Given the description of an element on the screen output the (x, y) to click on. 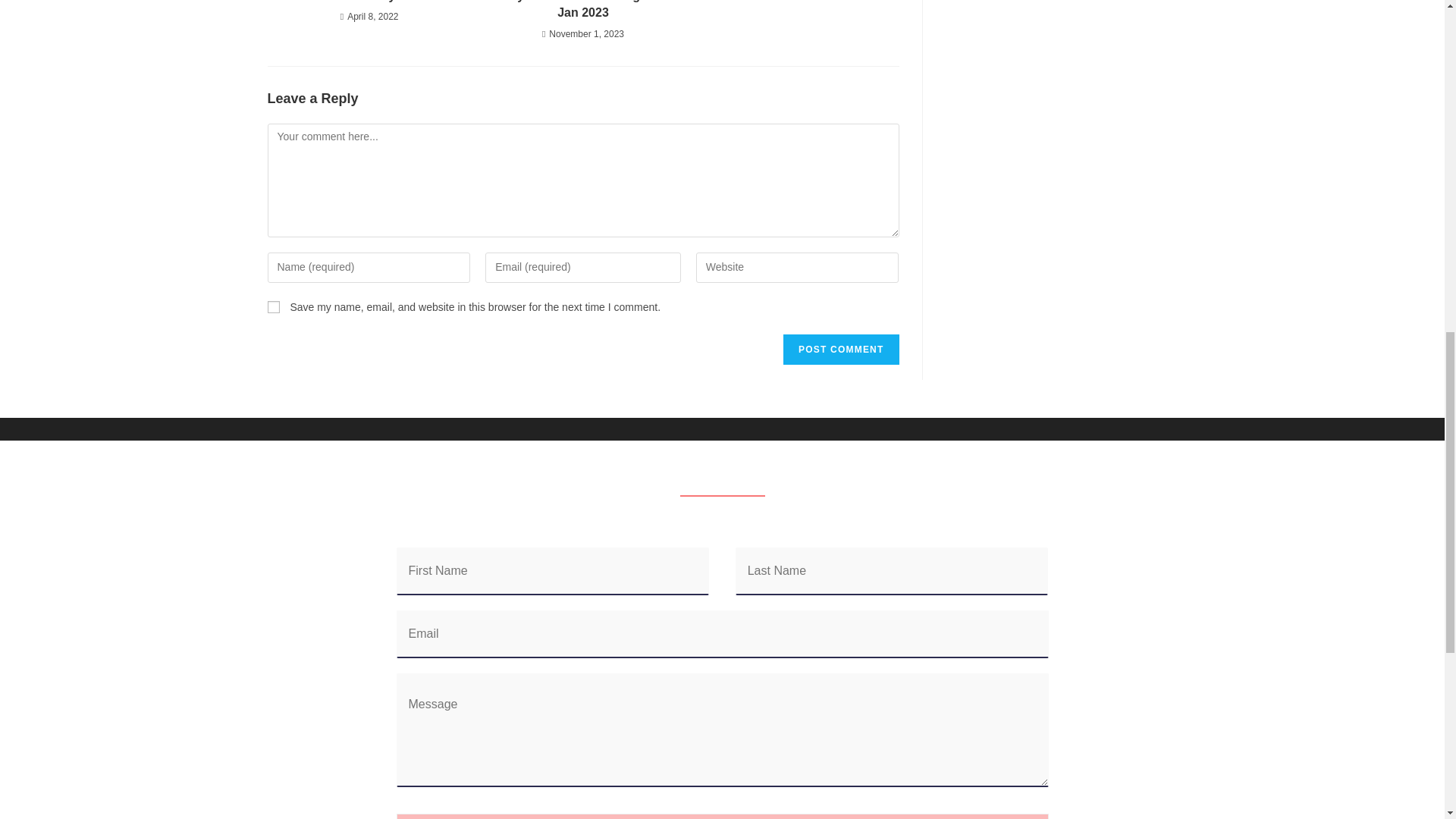
yes (272, 306)
Post Comment (840, 349)
Wybieraj Legalne Kasyno Sieciowy (368, 2)
Post Comment (840, 349)
